Given the description of an element on the screen output the (x, y) to click on. 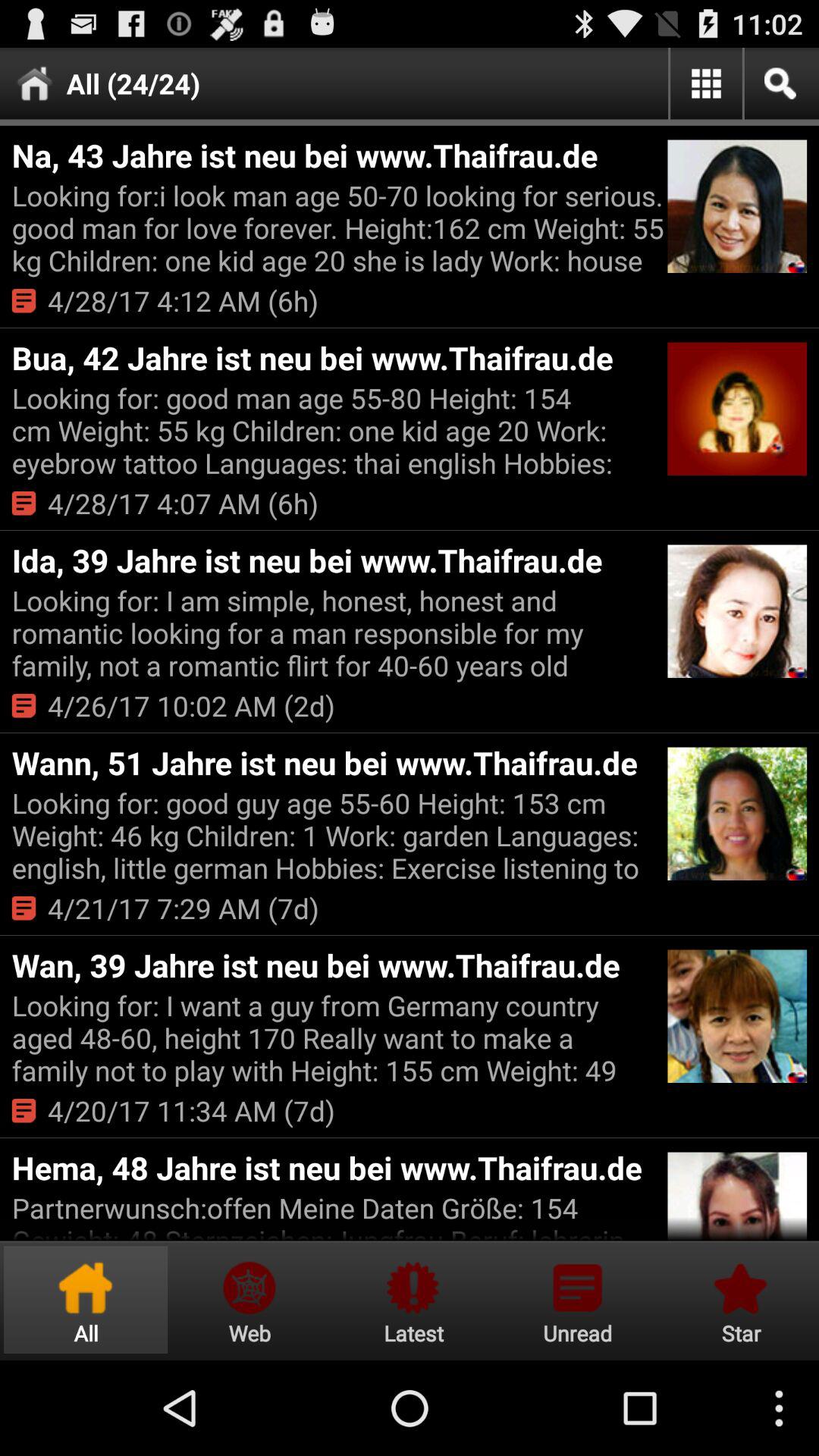
turn on the app below partnerwunsch offen meine app (577, 1299)
